Given the description of an element on the screen output the (x, y) to click on. 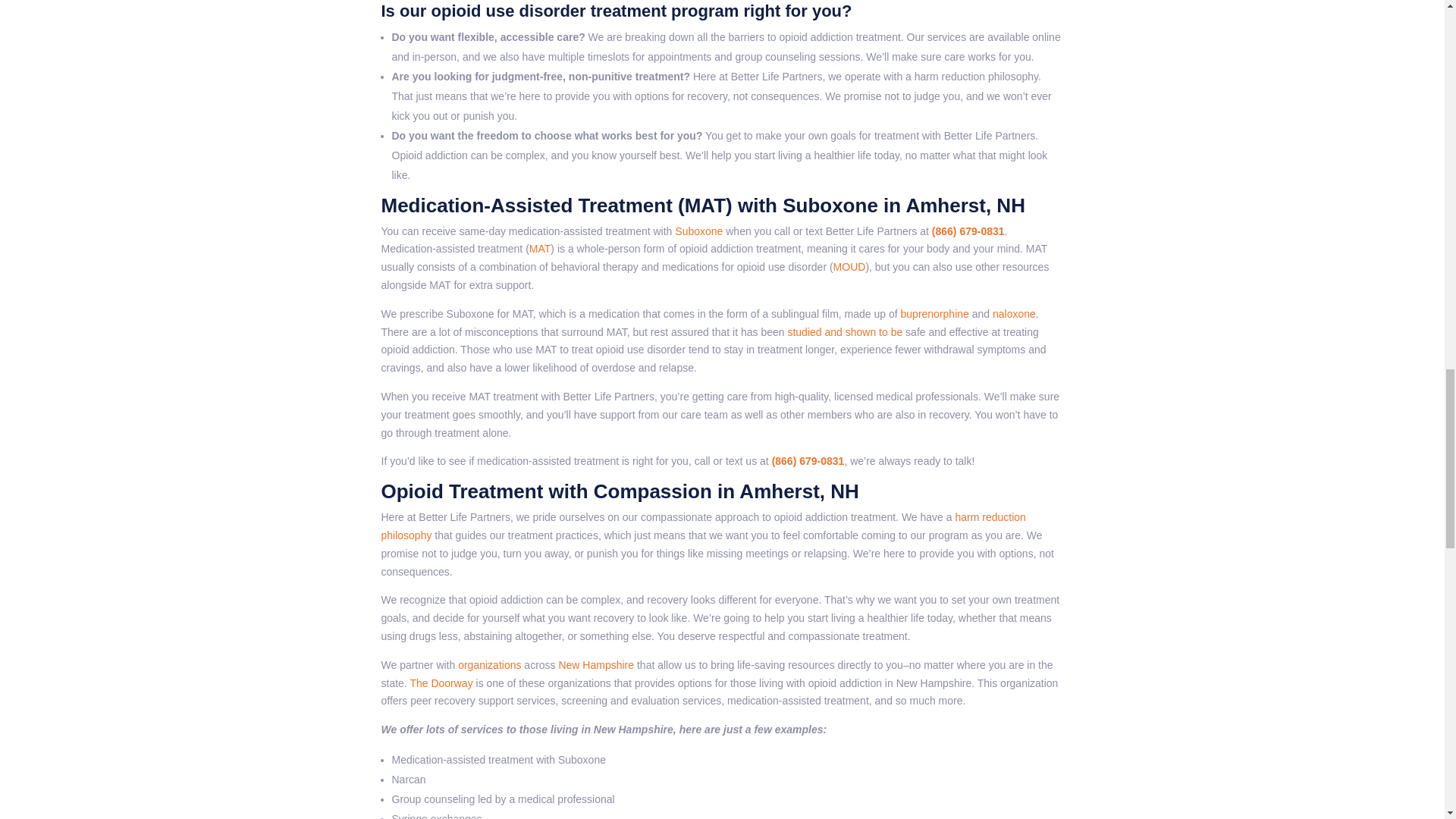
Suboxone (698, 231)
The Doorway (440, 683)
naloxone (1013, 313)
organizations (489, 664)
studied and shown to be (843, 331)
MAT (540, 248)
New Hampshire (595, 664)
MOUD (849, 266)
harm reduction philosophy (702, 526)
buprenorphine (935, 313)
